Given the description of an element on the screen output the (x, y) to click on. 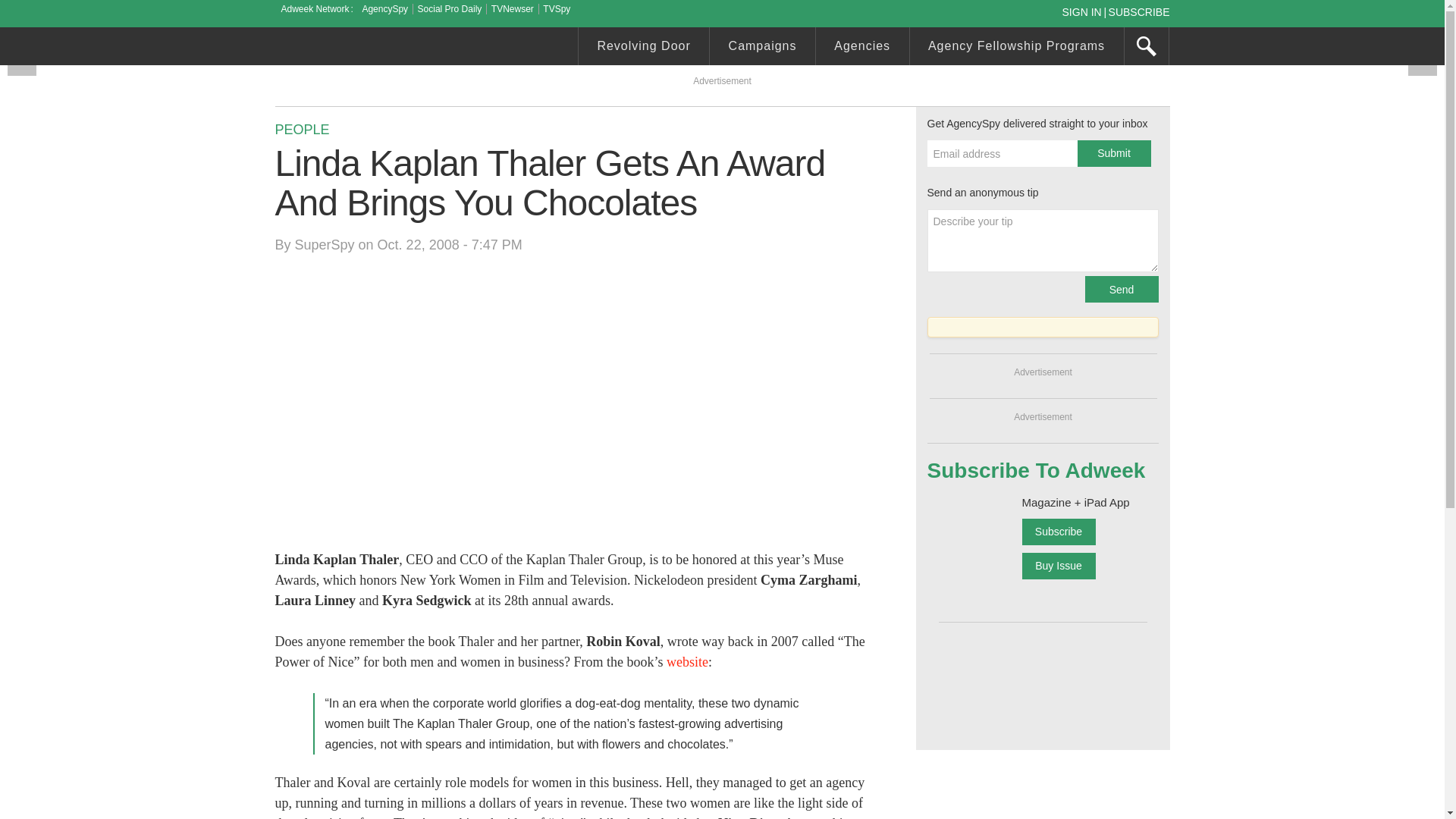
SIGN IN (1084, 11)
Agencies (861, 48)
SUBSCRIBE (1139, 11)
TVSpy (556, 9)
Campaigns (762, 48)
Agency Fellowship Programs (1017, 48)
Revolving Door (643, 48)
Adweek Network (316, 9)
Social Pro Daily (449, 9)
AgencySpy (384, 9)
